Given the description of an element on the screen output the (x, y) to click on. 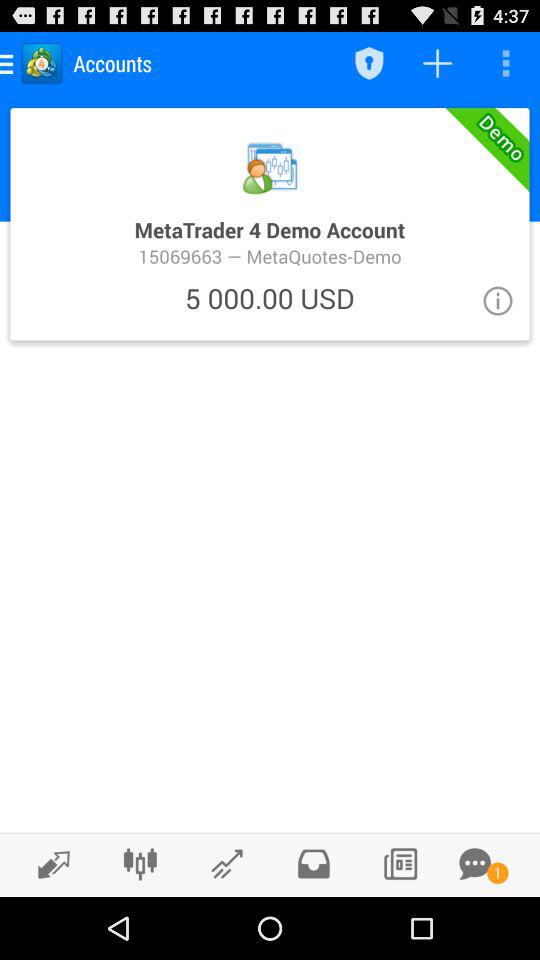
messages icon (475, 864)
